Given the description of an element on the screen output the (x, y) to click on. 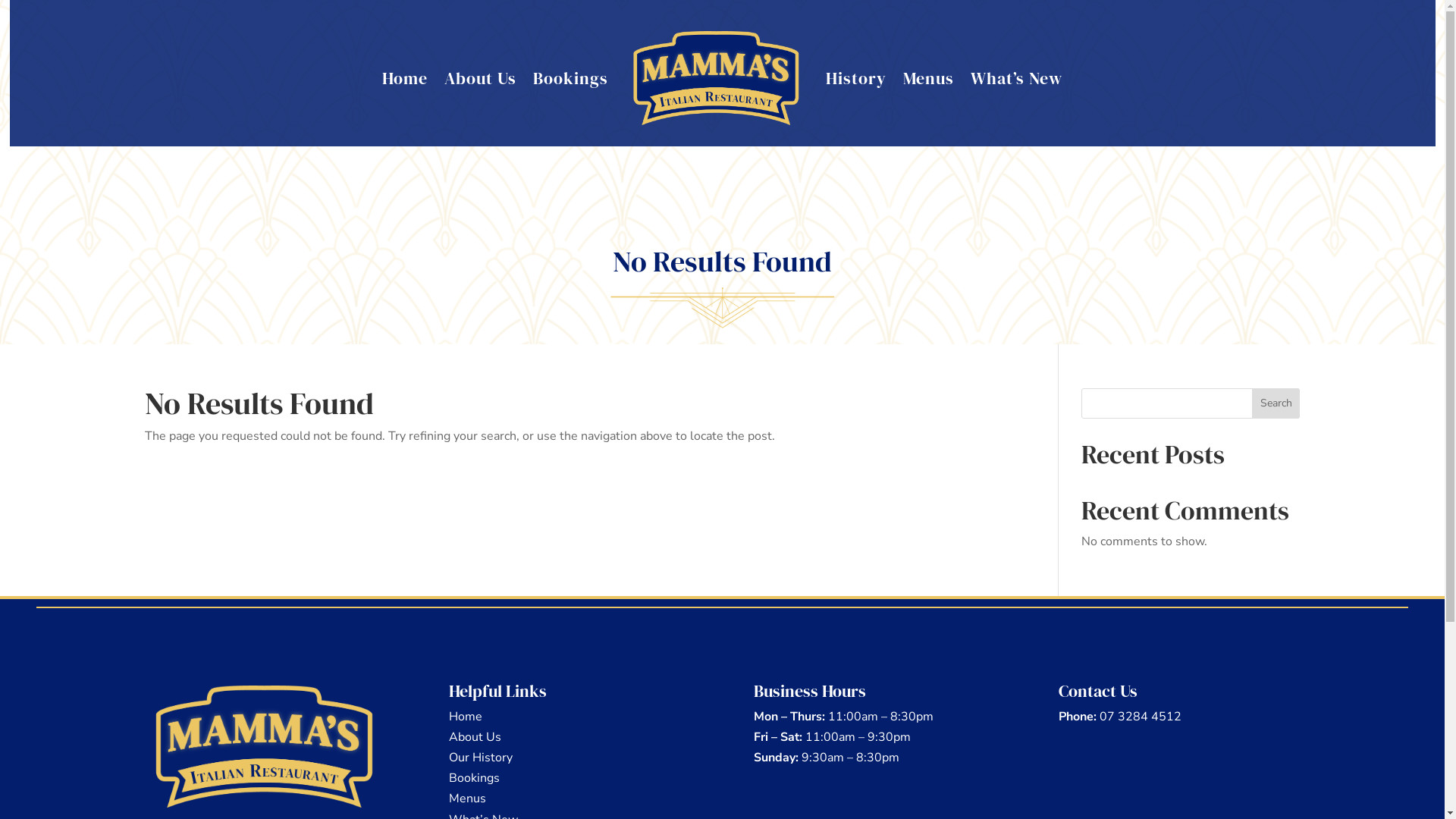
Menus Element type: text (928, 77)
About Us Element type: text (474, 736)
About Us Element type: text (480, 77)
Home Element type: text (465, 716)
ArtDeco-divider Element type: hover (721, 307)
History Element type: text (855, 77)
Search Element type: text (1276, 403)
Menus Element type: text (467, 798)
Mammas-Logo-blue Element type: hover (264, 746)
Home Element type: text (404, 77)
Our History Element type: text (480, 757)
Bookings Element type: text (473, 777)
Bookings Element type: text (570, 77)
